Given the description of an element on the screen output the (x, y) to click on. 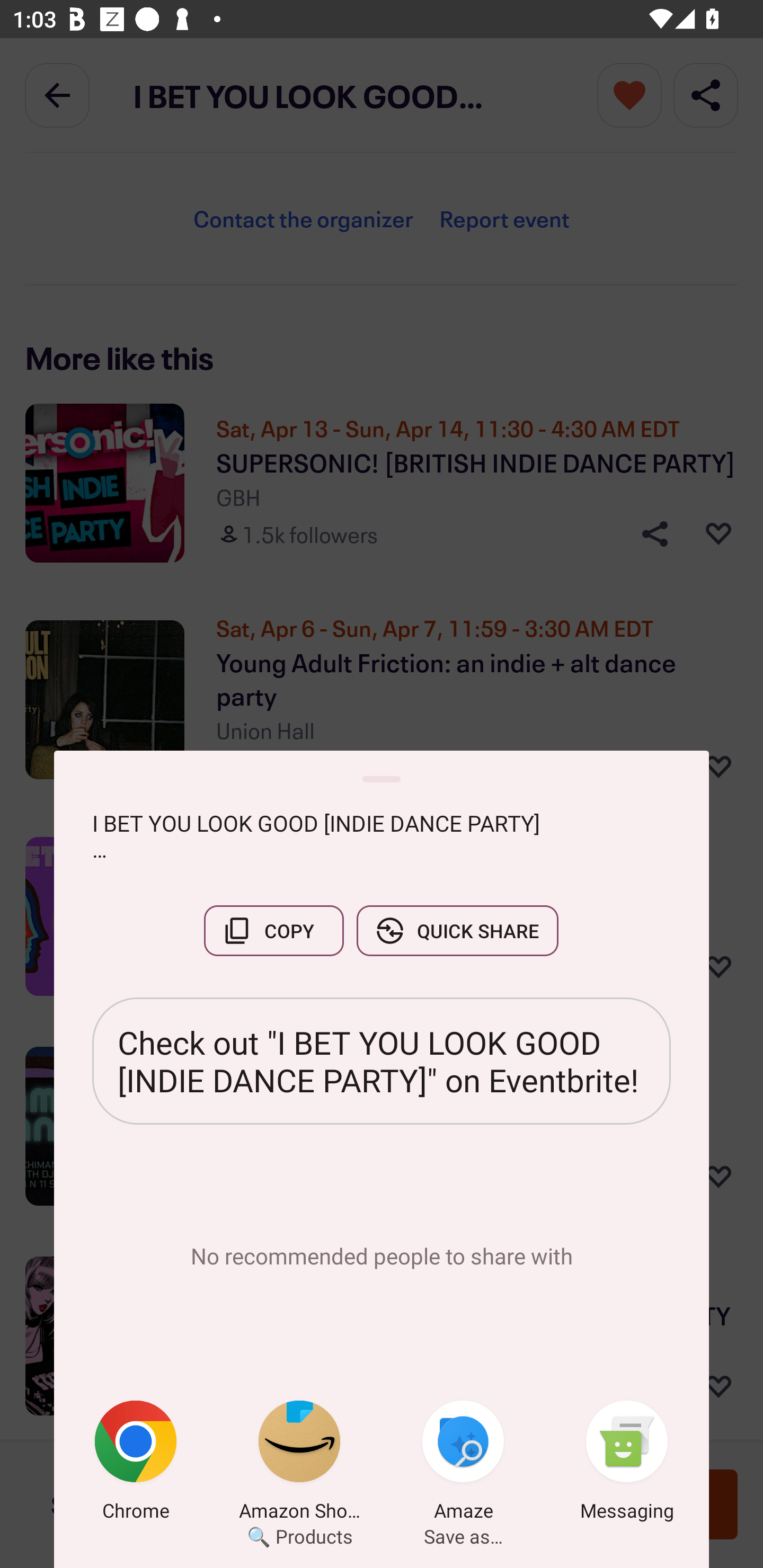
COPY (273, 930)
QUICK SHARE (457, 930)
Chrome (135, 1463)
Amazon Shopping 🔍 Products (299, 1463)
Amaze Save as… (463, 1463)
Messaging (626, 1463)
